Given the description of an element on the screen output the (x, y) to click on. 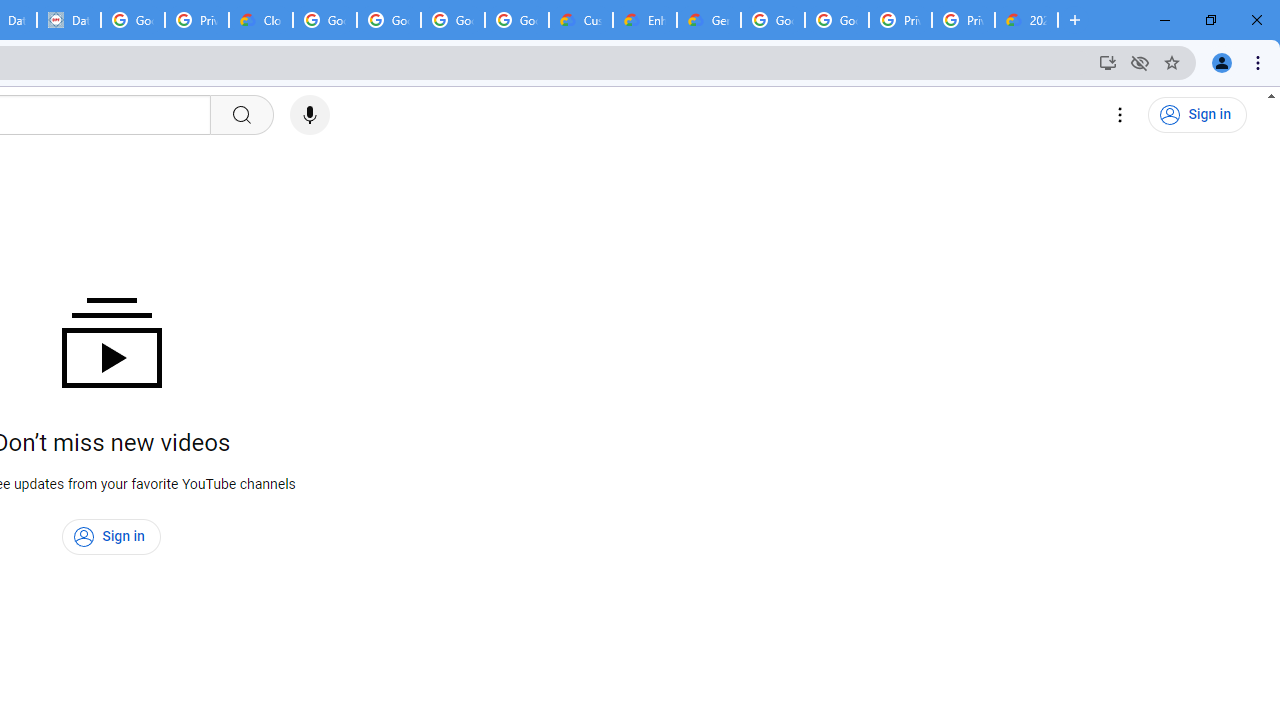
Enhanced Support | Google Cloud (645, 20)
Google Workspace - Specific Terms (517, 20)
Customer Care | Google Cloud (581, 20)
Google Cloud Platform (773, 20)
Google Cloud Platform (837, 20)
Gemini for Business and Developers | Google Cloud (709, 20)
Google Workspace - Specific Terms (453, 20)
